Given the description of an element on the screen output the (x, y) to click on. 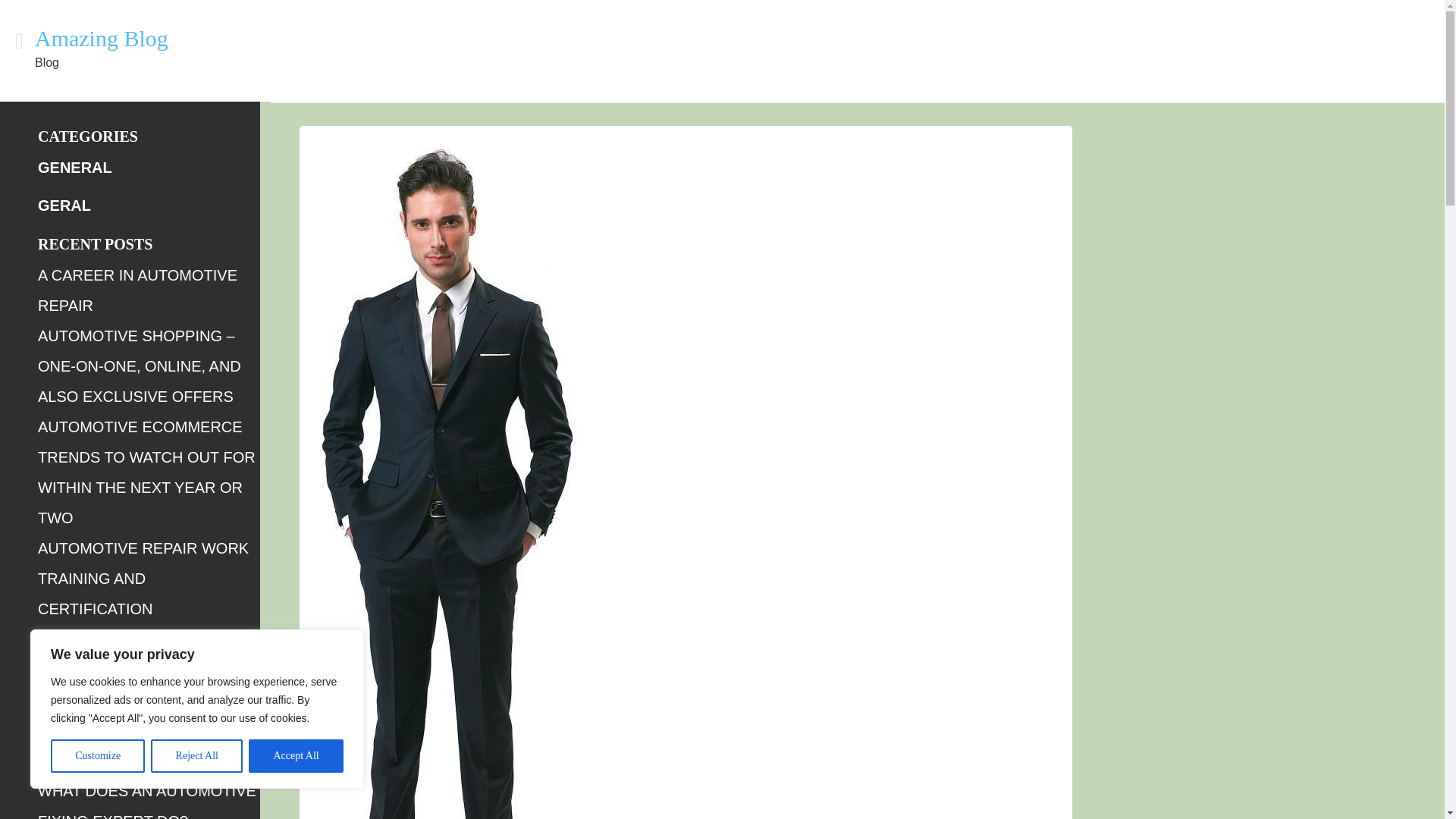
GENERAL (74, 167)
Customize (97, 756)
GERAL (63, 205)
Accept All (295, 756)
Amazing Blog (101, 37)
Reject All (197, 756)
